Given the description of an element on the screen output the (x, y) to click on. 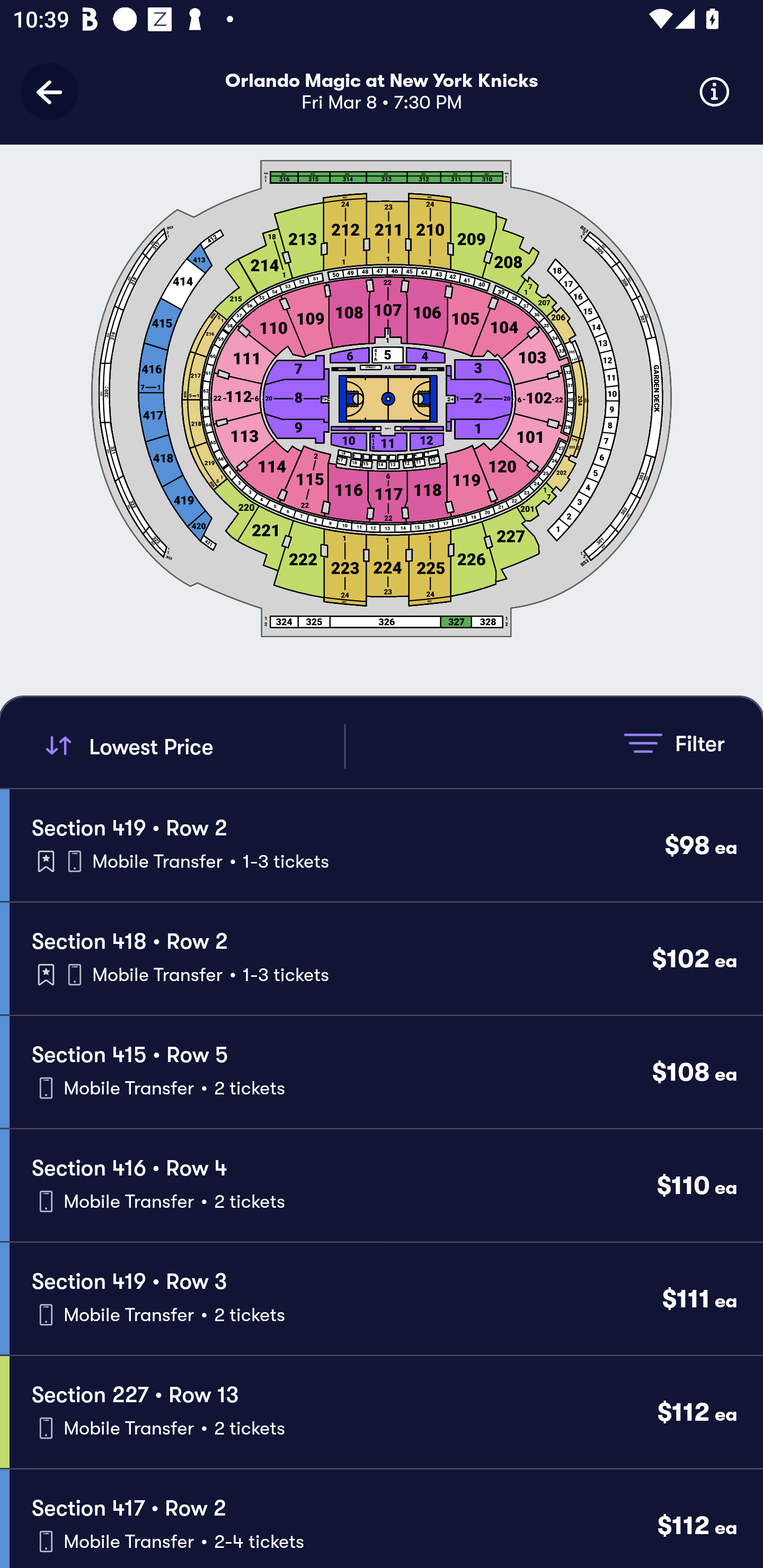
Lowest Price (191, 746)
Filter (674, 743)
